Given the description of an element on the screen output the (x, y) to click on. 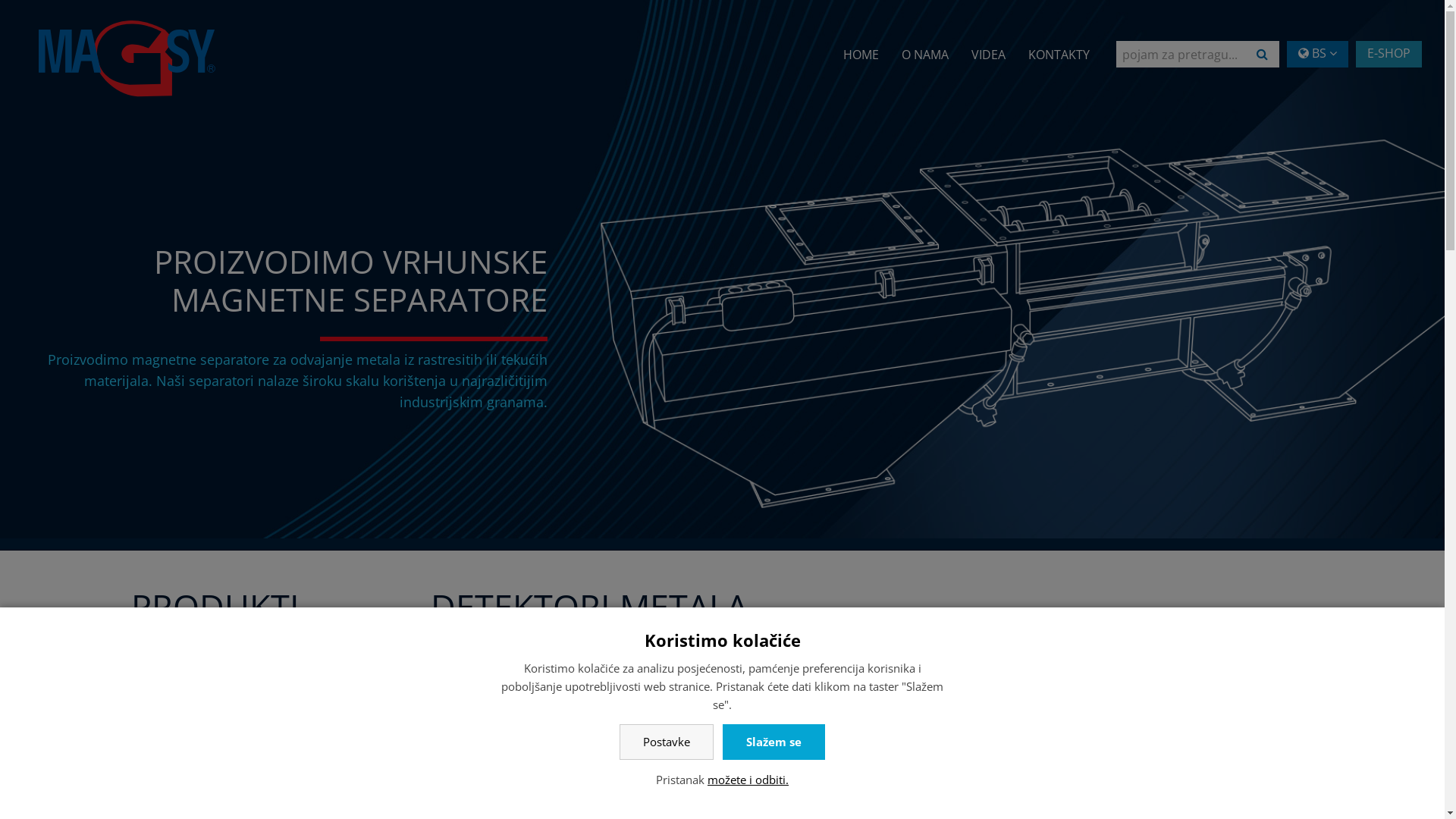
E-SHOP Element type: text (1388, 53)
BS Element type: text (1317, 53)
O NAMA Element type: text (925, 36)
Postavke Element type: text (666, 741)
MAGNETNI SEPARATORI Element type: text (264, 711)
VIDEA Element type: text (988, 36)
PREGLED ASORTIMANA Element type: text (264, 673)
KONTAKTY Element type: text (1058, 36)
MAGNETI Element type: text (264, 748)
Detektori metala | Nazad na glavnu stranicu Element type: hover (126, 58)
HOME Element type: text (860, 36)
